Given the description of an element on the screen output the (x, y) to click on. 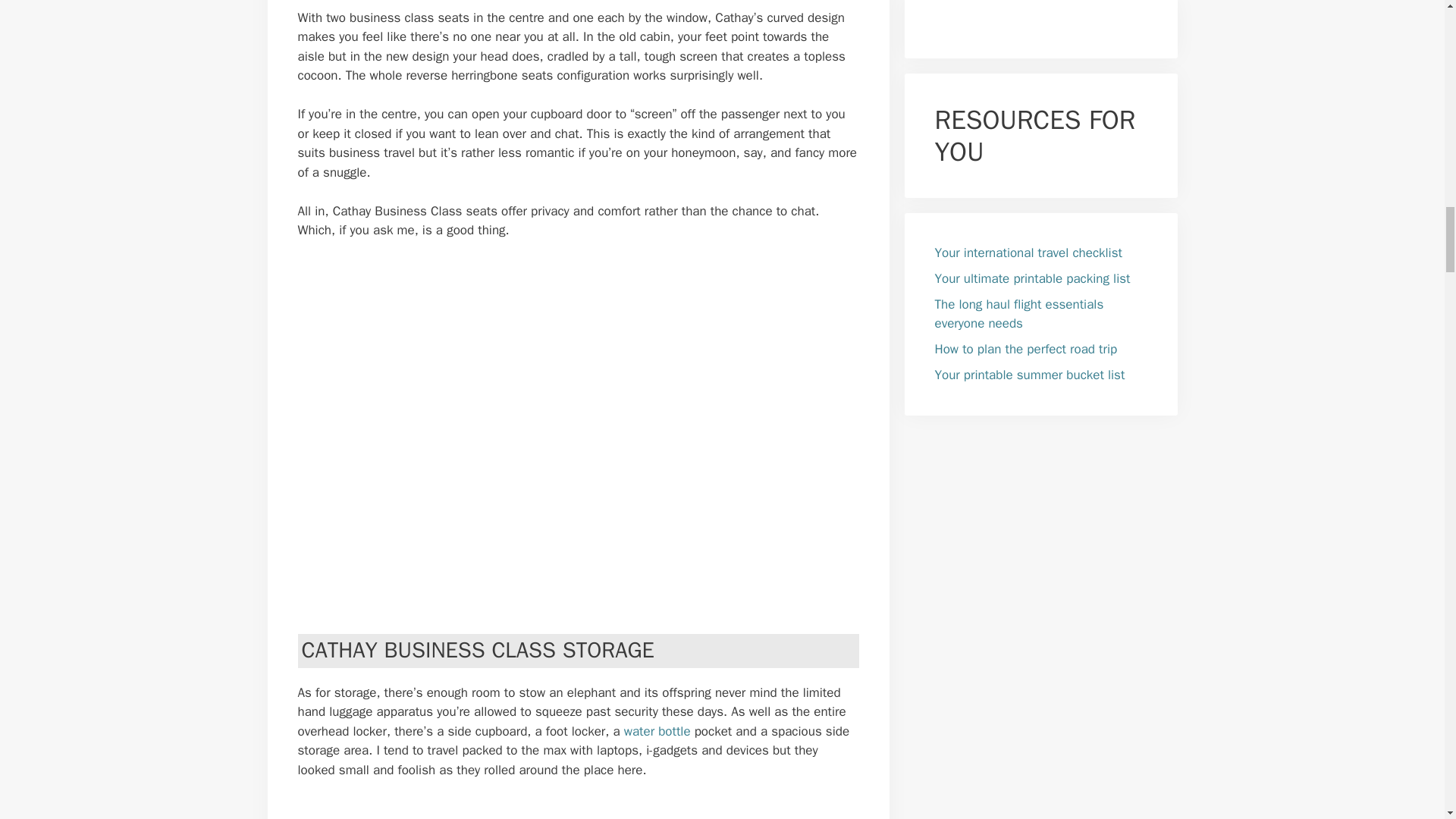
collapsible water bottle (657, 731)
